Given the description of an element on the screen output the (x, y) to click on. 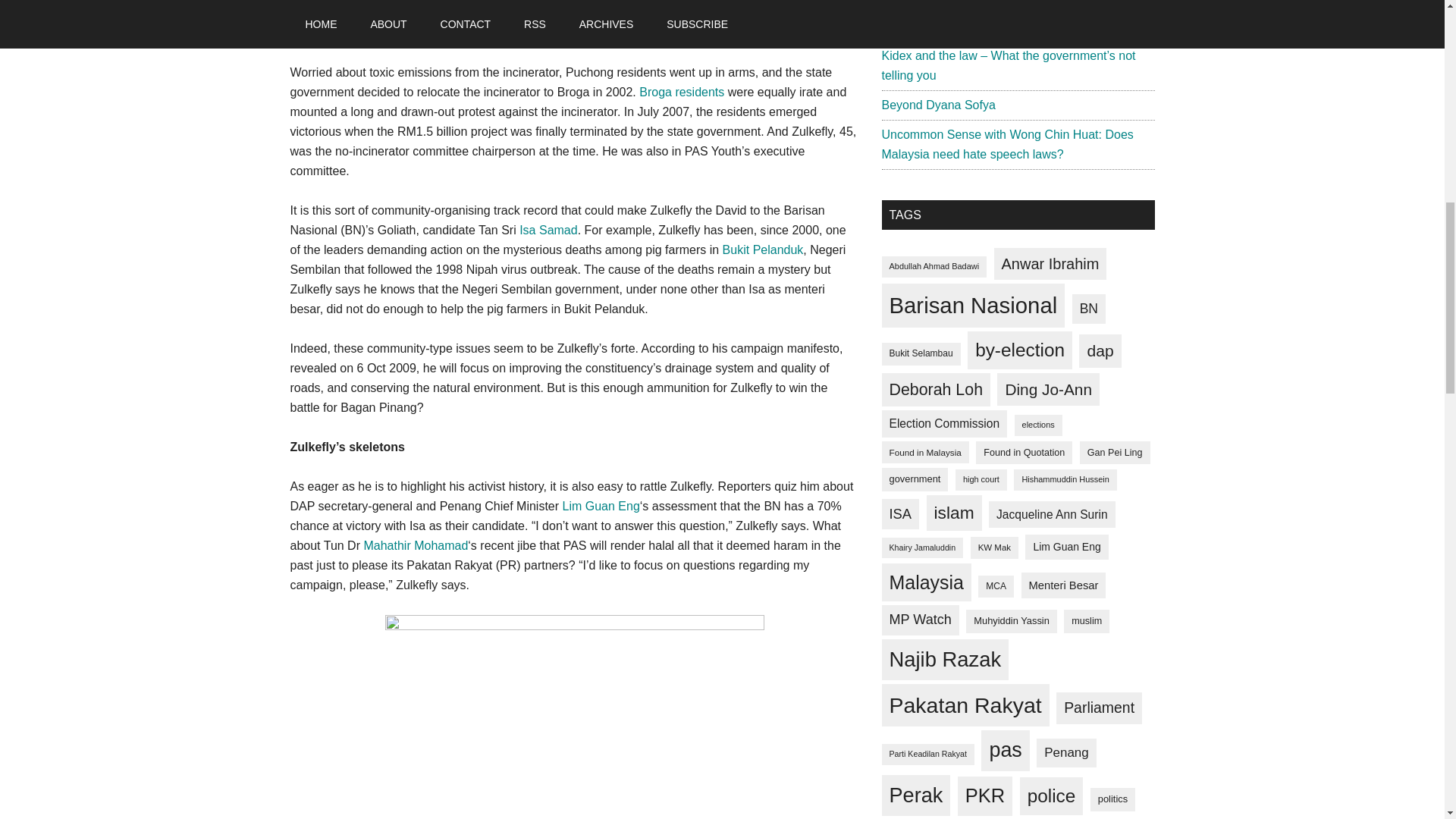
Broga residents (681, 91)
Mahathir Mohamad (414, 545)
Bukit Pelanduk (762, 249)
Isa Samad (547, 229)
thermal incinerator in Puchong (371, 32)
Lim Guan Eng (601, 505)
